Given the description of an element on the screen output the (x, y) to click on. 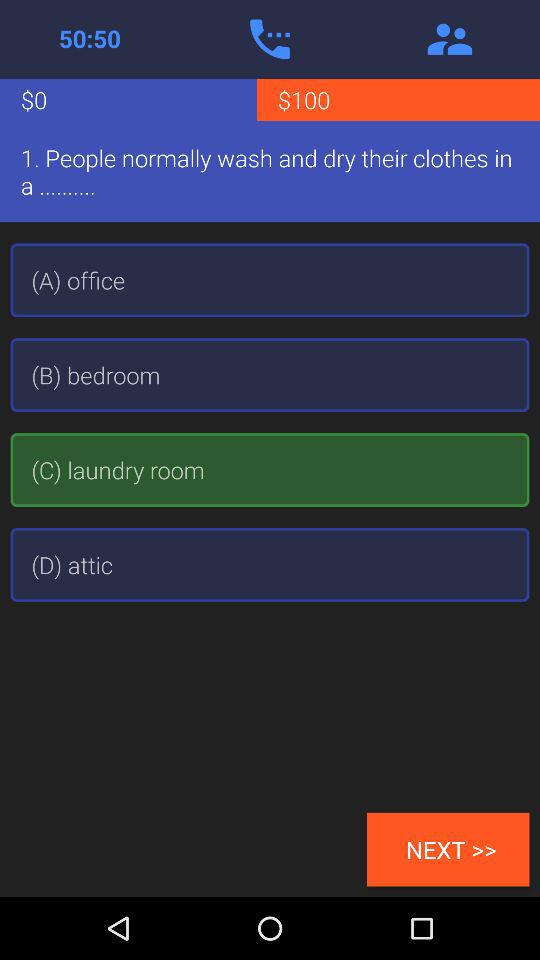
jump to next >>   item (448, 849)
